Given the description of an element on the screen output the (x, y) to click on. 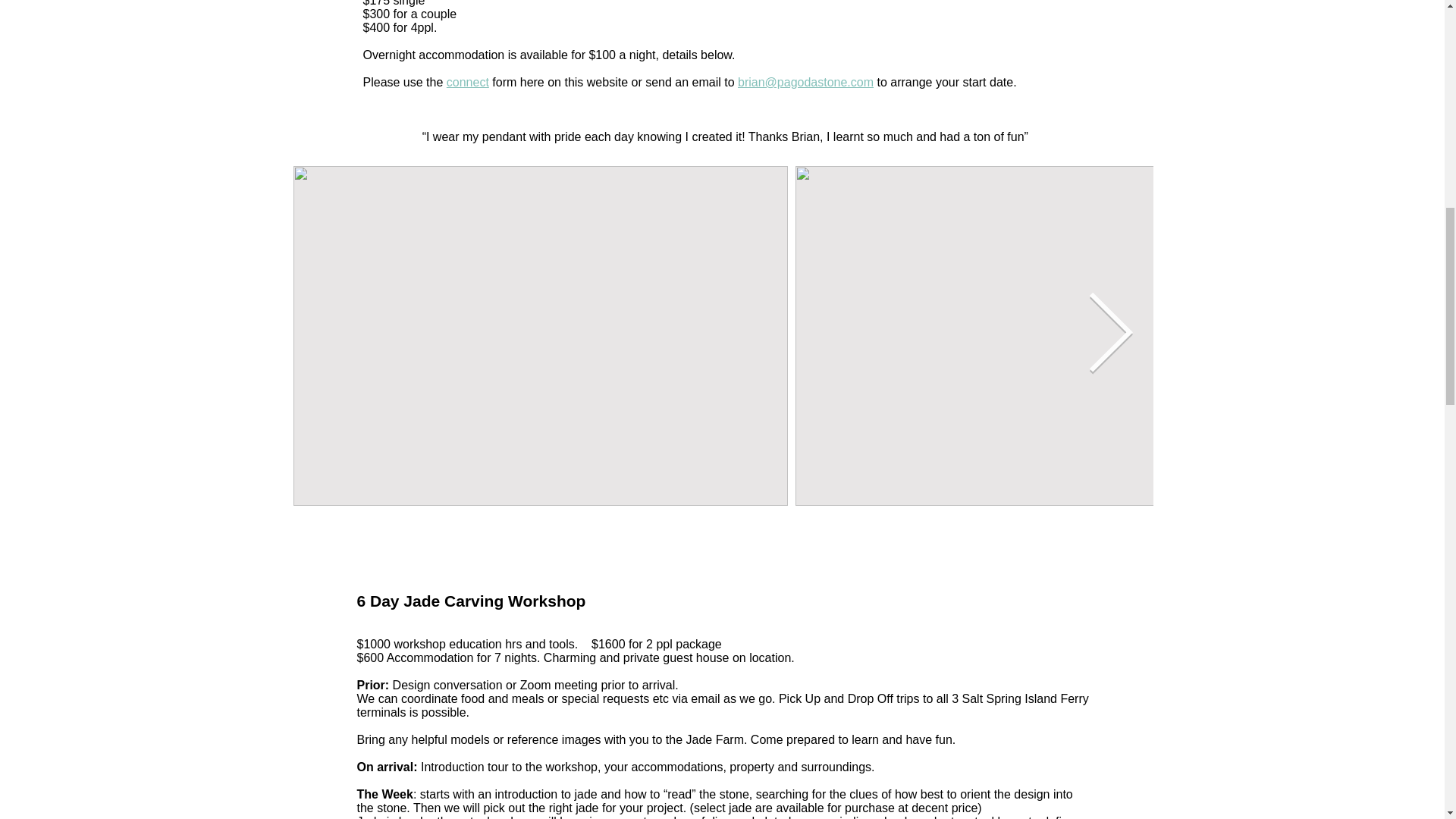
connect (467, 82)
